Given the description of an element on the screen output the (x, y) to click on. 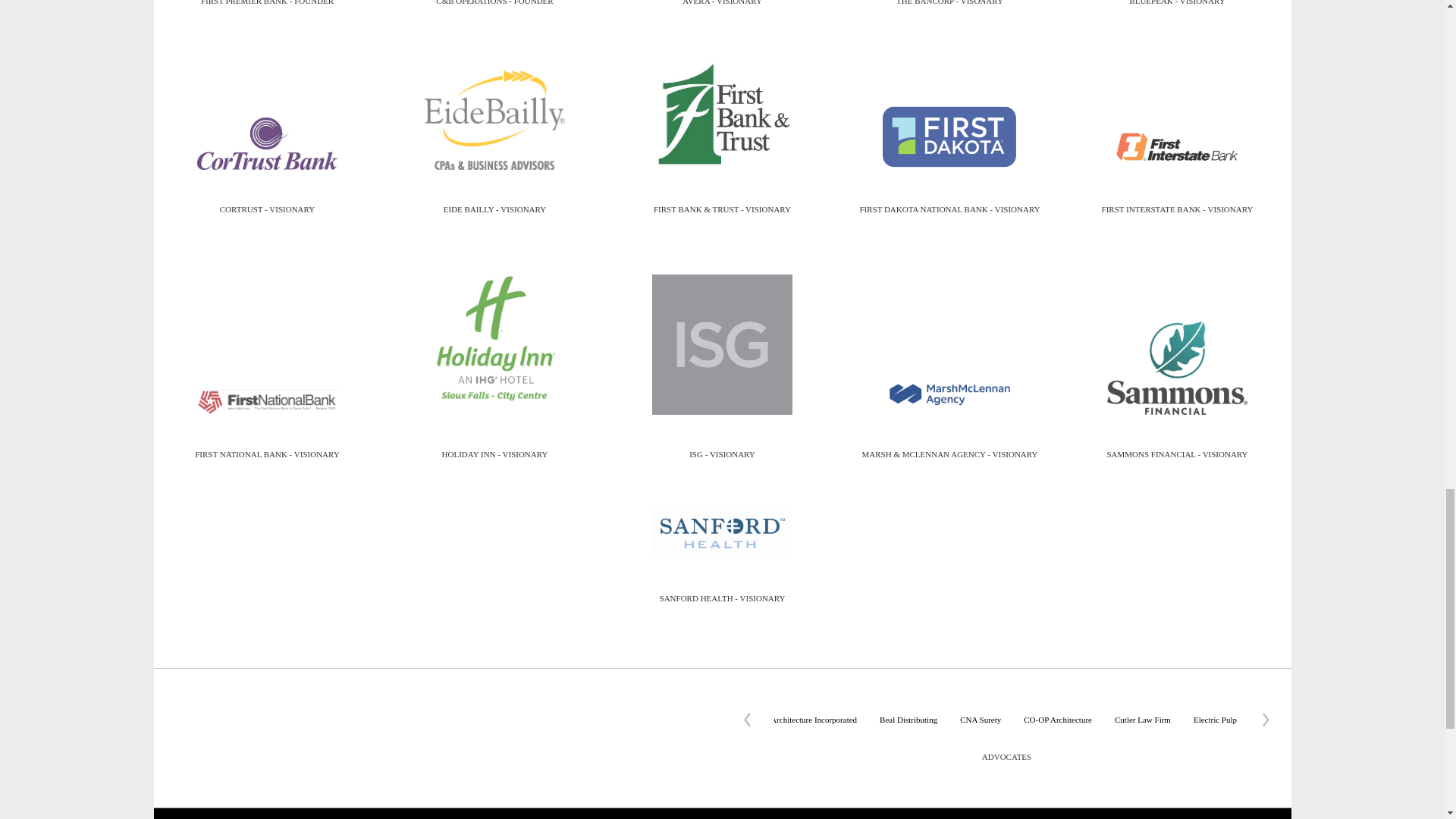
First Interstate Bank - VISIONARY (1176, 146)
First Dakota National Bank - VISIONARY (949, 136)
Eide Bailly - VISIONARY (494, 120)
First National Bank - VISIONARY (266, 401)
CorTrust - VISIONARY (266, 143)
ISG - VISIONARY (721, 344)
Holiday Inn - VISIONARY (494, 338)
